Given the description of an element on the screen output the (x, y) to click on. 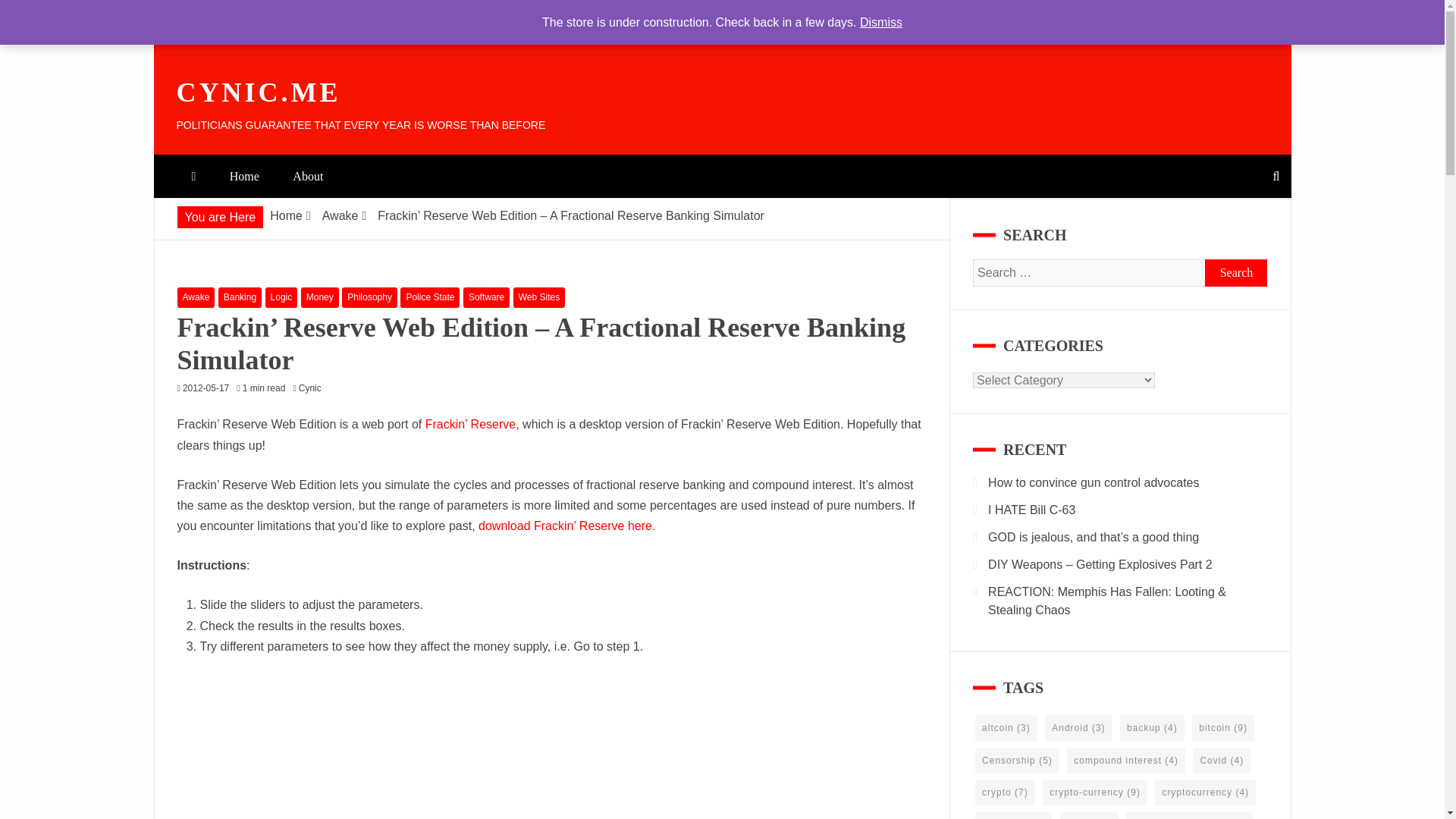
Cynic (313, 388)
Police State (430, 297)
Search (1235, 272)
Money (320, 297)
Search (1235, 272)
Awake (196, 297)
2012-05-17 (205, 388)
Frackin' Reserve - A fractional reserve banking simulator (565, 525)
Philosophy (369, 297)
Logic (281, 297)
